Given the description of an element on the screen output the (x, y) to click on. 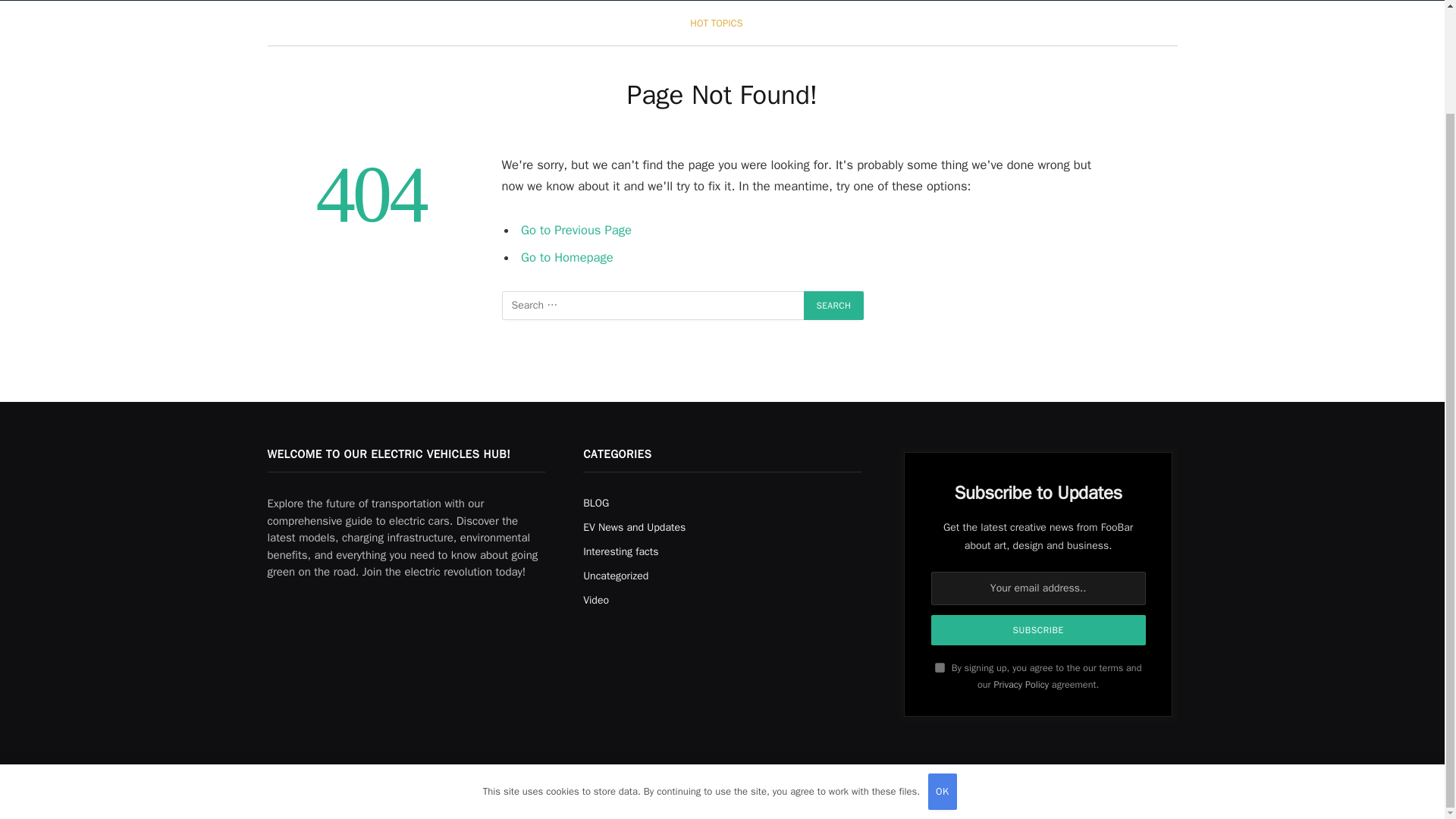
Subscribe (1038, 630)
on (939, 667)
Search (833, 305)
Search (833, 305)
Go to Previous Page (576, 229)
